Given the description of an element on the screen output the (x, y) to click on. 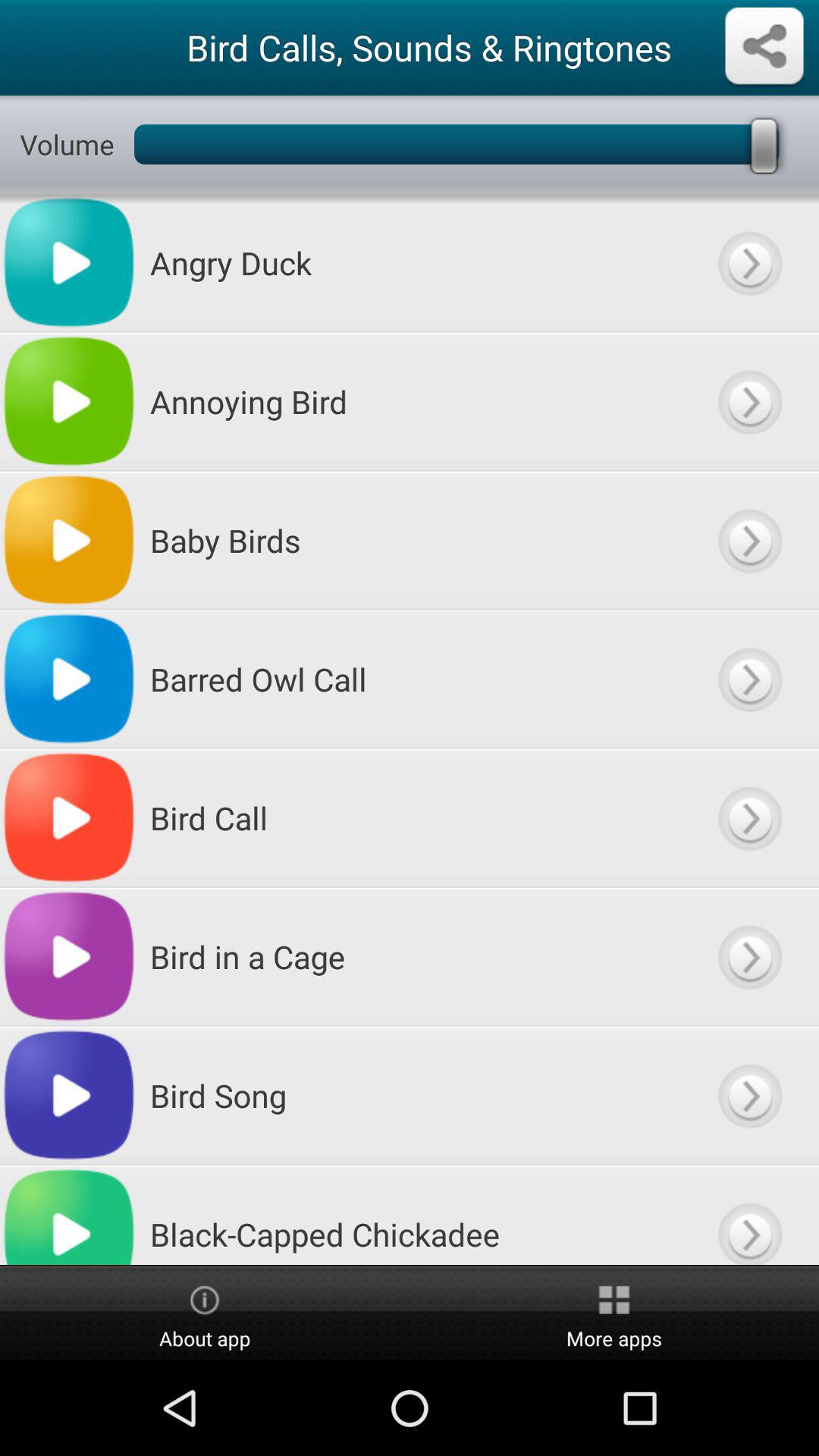
listen to tha file (749, 679)
